Given the description of an element on the screen output the (x, y) to click on. 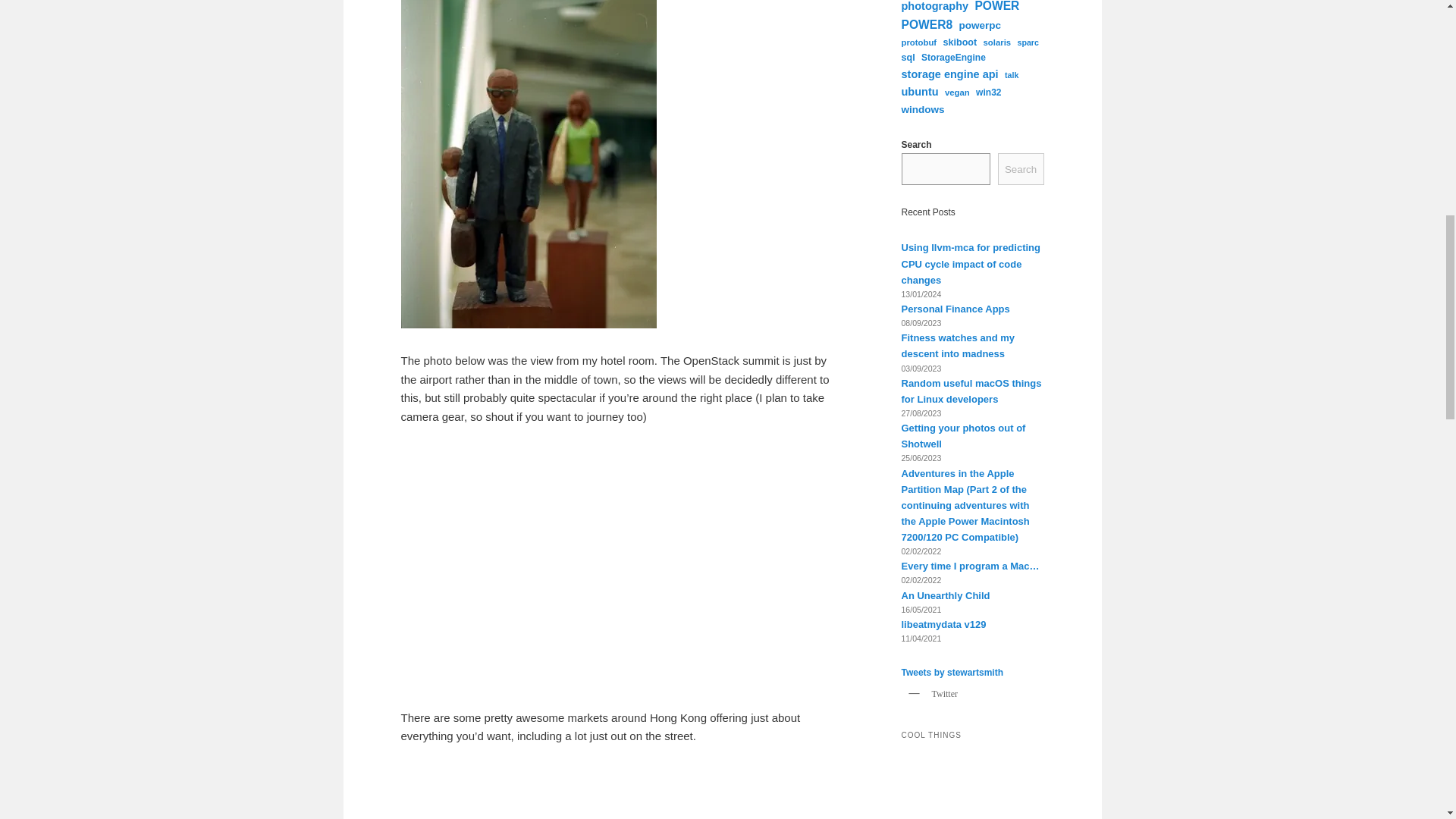
Statues in walkways by stewartesmith, on Flickr (528, 323)
